Given the description of an element on the screen output the (x, y) to click on. 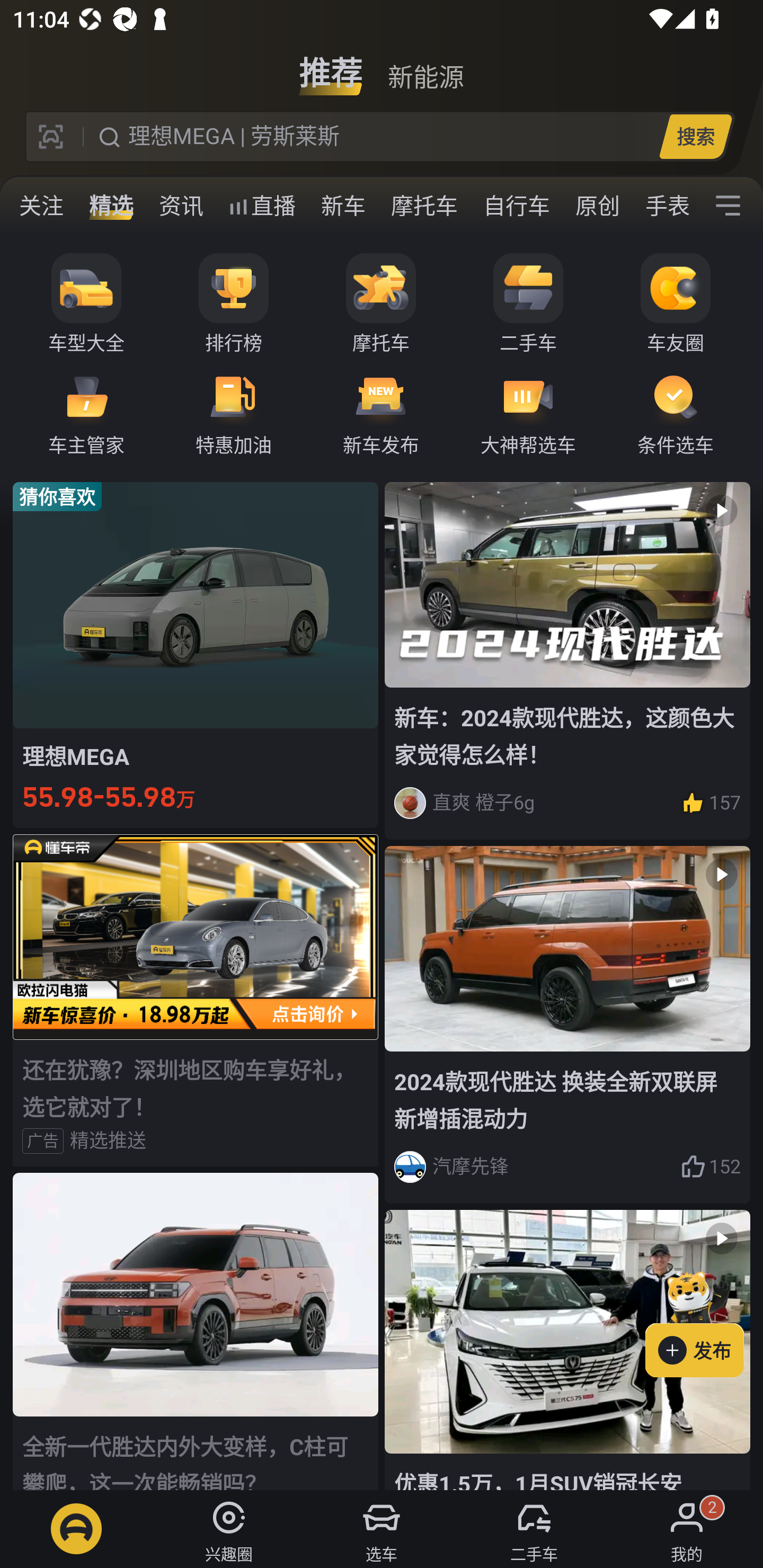
推荐 (330, 65)
新能源 (425, 65)
搜索 (695, 136)
关注 (41, 205)
精选 (111, 205)
资讯 (180, 205)
直播 (261, 205)
新车 (343, 205)
摩托车 (424, 205)
自行车 (516, 205)
原创 (597, 205)
手表 (663, 205)
 (727, 205)
车型大全 (86, 303)
排行榜 (233, 303)
摩托车 (380, 303)
二手车 (528, 303)
车友圈 (675, 303)
车主管家 (86, 412)
特惠加油 (233, 412)
新车发布 (380, 412)
大神帮选车 (528, 412)
条件选车 (675, 412)
猜你喜欢 理想MEGA 55.98-55.98万 (195, 654)
 新车：2024款现代胜达，这颜色大家觉得怎么样！ 直爽 橙子6g 157 (567, 659)
157 (710, 802)
还在犹豫？深圳地区购车享好礼，选它就对了！ 广告 精选推送 (195, 1000)
 2024款现代胜达 换装全新双联屏 新增插混动力 汽摩先锋 152 (567, 1025)
152 (710, 1166)
全新一代胜达内外大变样，C柱可攀爬，这一次能畅销吗？ (195, 1330)
 优惠1.5万，1月SUV销冠长安CS75PLUS为何值得买？性价比是亮点！ (567, 1349)
发布 (704, 1320)
 兴趣圈 (228, 1528)
 选车 (381, 1528)
 二手车 (533, 1528)
 我的 (686, 1528)
